Given the description of an element on the screen output the (x, y) to click on. 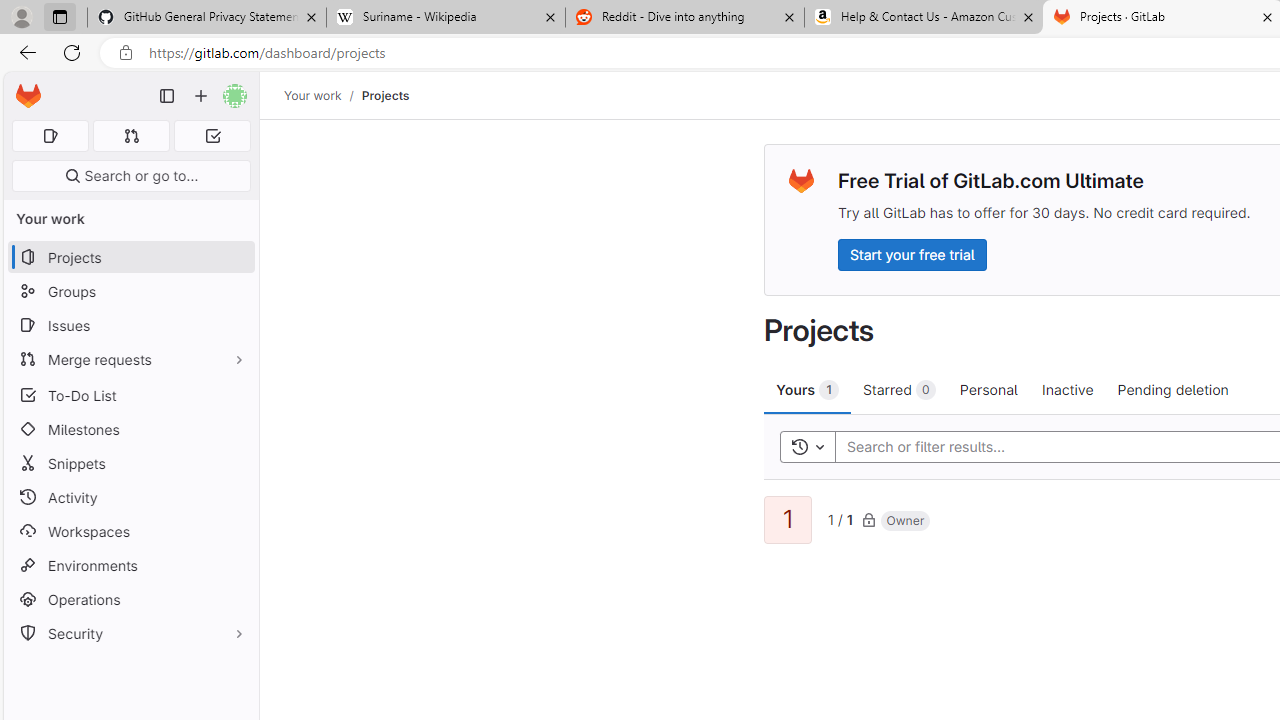
1 (787, 519)
Your work (312, 95)
Class: s16 (868, 519)
To-Do List (130, 394)
GitHub General Privacy Statement - GitHub Docs (207, 17)
Operations (130, 599)
Start your free trial (912, 254)
